Given the description of an element on the screen output the (x, y) to click on. 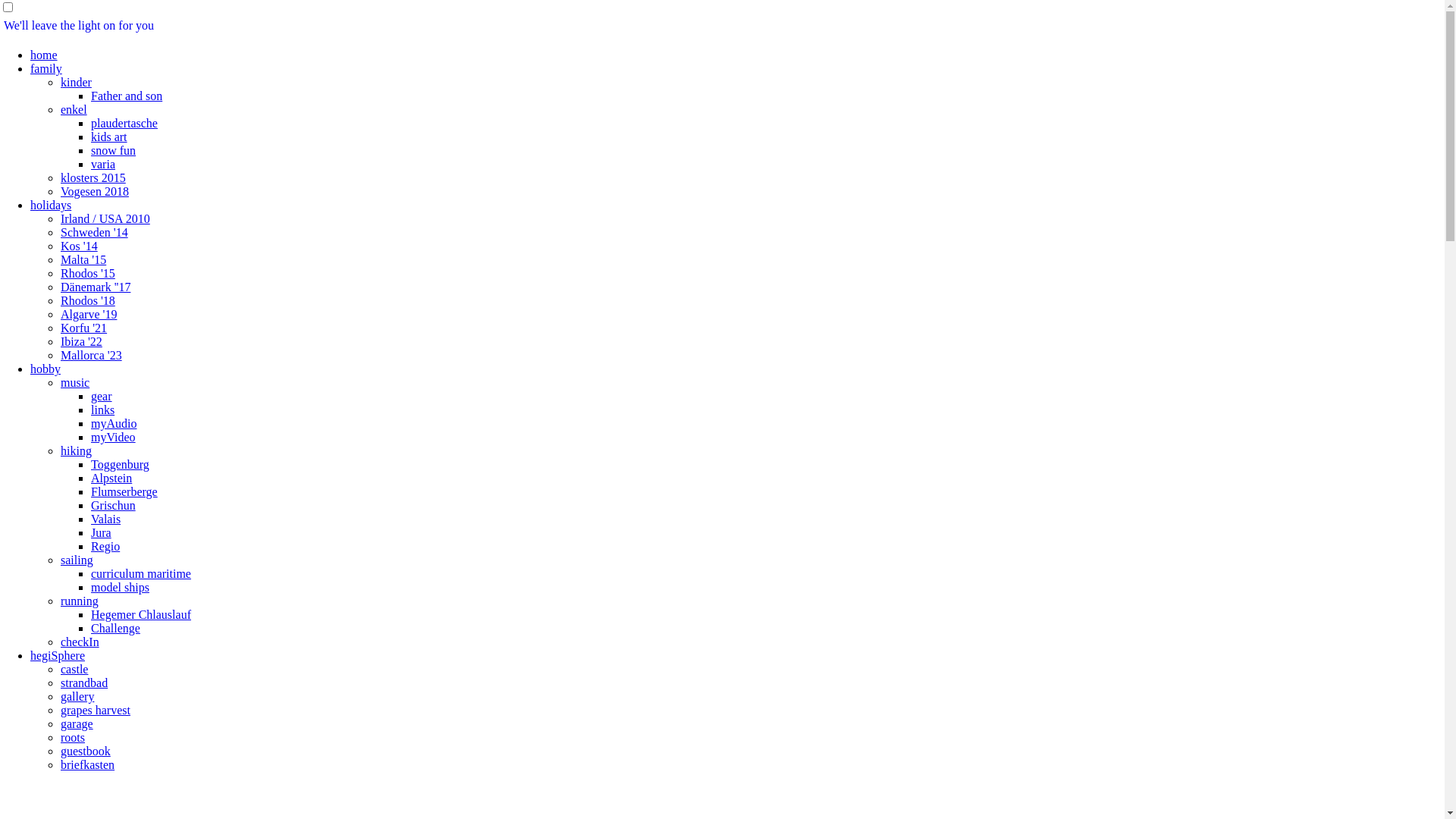
Jura Element type: text (101, 532)
Alpstein Element type: text (111, 477)
enkel Element type: text (73, 109)
kinder Element type: text (75, 81)
klosters 2015 Element type: text (92, 177)
Algarve '19 Element type: text (88, 313)
Flumserberge Element type: text (124, 491)
sailing Element type: text (76, 559)
guestbook Element type: text (85, 750)
Irland / USA 2010 Element type: text (105, 218)
gear Element type: text (101, 395)
Father and son Element type: text (126, 95)
Toggenburg Element type: text (120, 464)
music Element type: text (74, 382)
Schweden '14 Element type: text (94, 231)
varia Element type: text (103, 163)
running Element type: text (79, 600)
Valais Element type: text (105, 518)
Rhodos '18 Element type: text (87, 300)
grapes harvest Element type: text (95, 709)
Ibiza '22 Element type: text (81, 341)
snow fun Element type: text (113, 150)
Hegemer Chlauslauf Element type: text (141, 614)
Regio Element type: text (105, 545)
hobby Element type: text (45, 368)
holidays Element type: text (50, 204)
Grischun Element type: text (113, 504)
model ships Element type: text (120, 586)
Korfu '21 Element type: text (83, 327)
Mallorca '23 Element type: text (91, 354)
Vogesen 2018 Element type: text (94, 191)
Challenge Element type: text (115, 627)
checkIn Element type: text (79, 641)
kids art Element type: text (109, 136)
roots Element type: text (72, 737)
gallery Element type: text (77, 696)
myVideo Element type: text (113, 436)
links Element type: text (102, 409)
plaudertasche Element type: text (124, 122)
family Element type: text (46, 68)
hegiSphere Element type: text (57, 655)
home Element type: text (43, 54)
curriculum maritime Element type: text (141, 573)
briefkasten Element type: text (87, 764)
strandbad Element type: text (83, 682)
Rhodos '15 Element type: text (87, 272)
hiking Element type: text (75, 450)
castle Element type: text (73, 668)
garage Element type: text (76, 723)
Malta '15 Element type: text (83, 259)
Kos '14 Element type: text (78, 245)
We'll leave the light on for you Element type: text (78, 24)
myAudio Element type: text (113, 423)
